Given the description of an element on the screen output the (x, y) to click on. 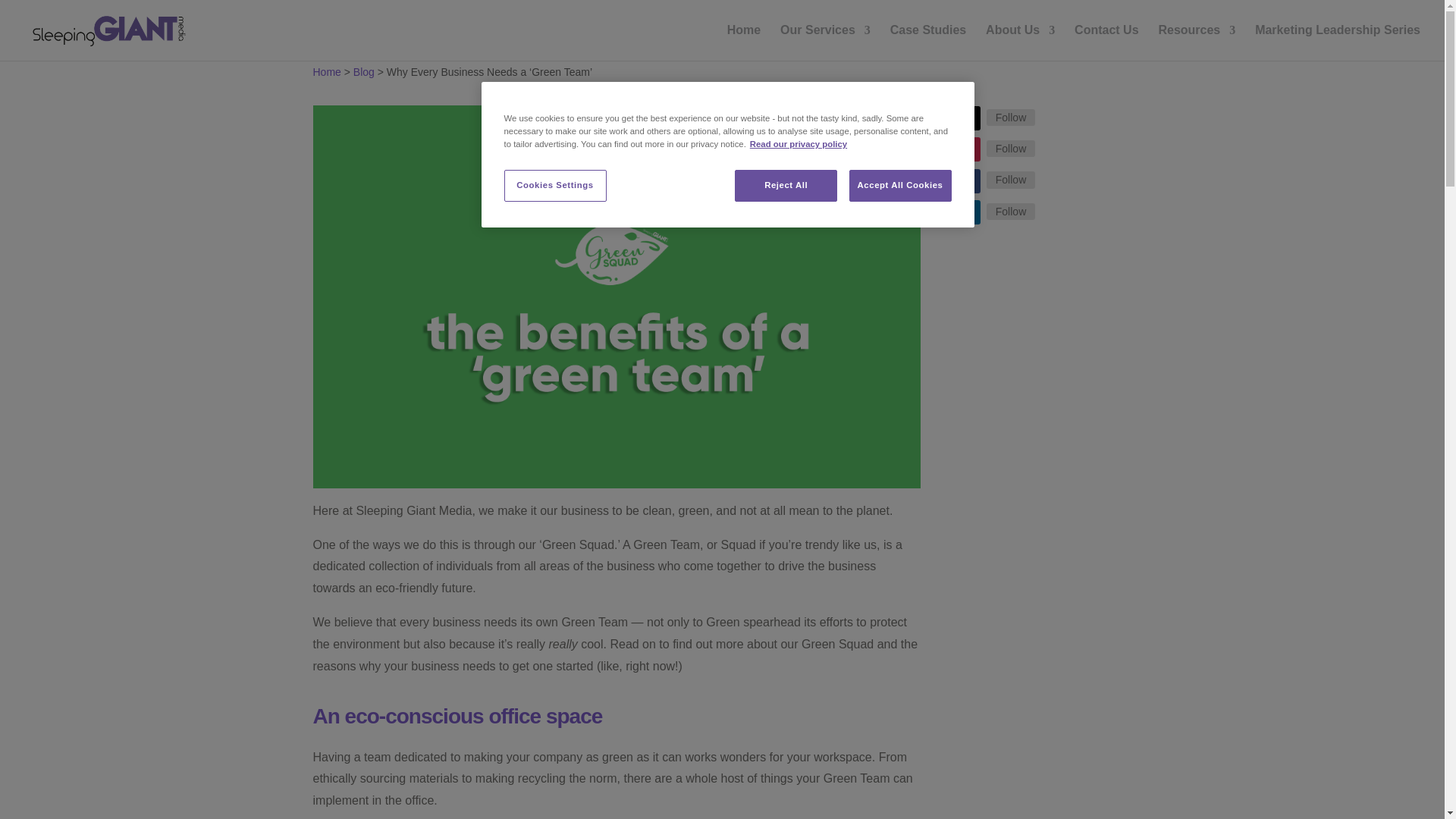
Home (743, 42)
LinkedIn (1011, 211)
Instagram (1011, 148)
Our Services (825, 42)
Resources (1195, 42)
Follow on Facebook (967, 180)
Follow on Twitter (967, 118)
Follow on Instagram (967, 149)
Twitter (1011, 117)
Facebook (1011, 179)
Marketing Leadership Series (1338, 42)
Contact Us (1106, 42)
Follow on LinkedIn (967, 211)
About Us (1019, 42)
Case Studies (927, 42)
